Given the description of an element on the screen output the (x, y) to click on. 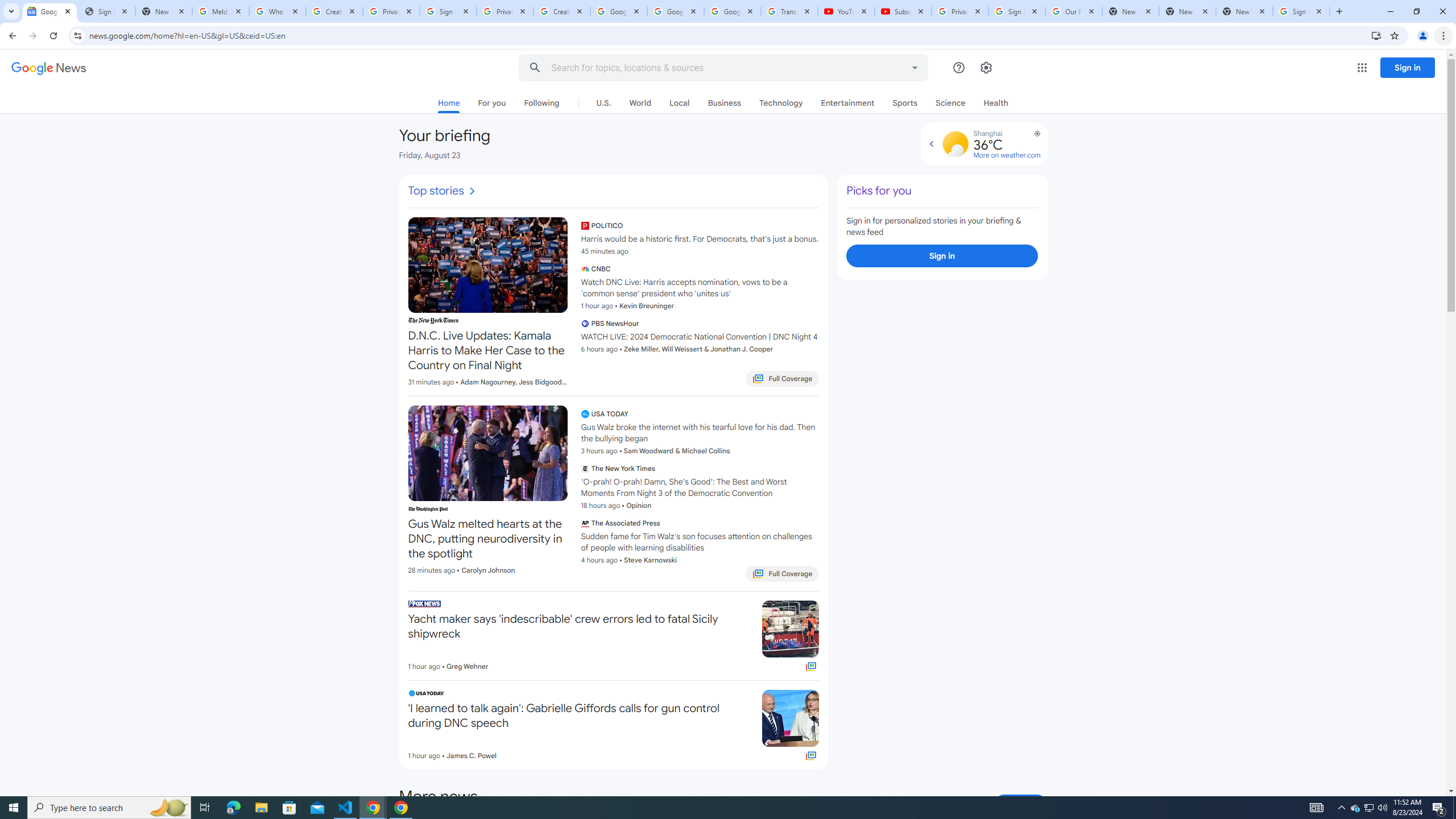
Local (679, 102)
Google Account (731, 11)
Install Google News (1376, 35)
Technology (780, 102)
Google News (49, 11)
